Given the description of an element on the screen output the (x, y) to click on. 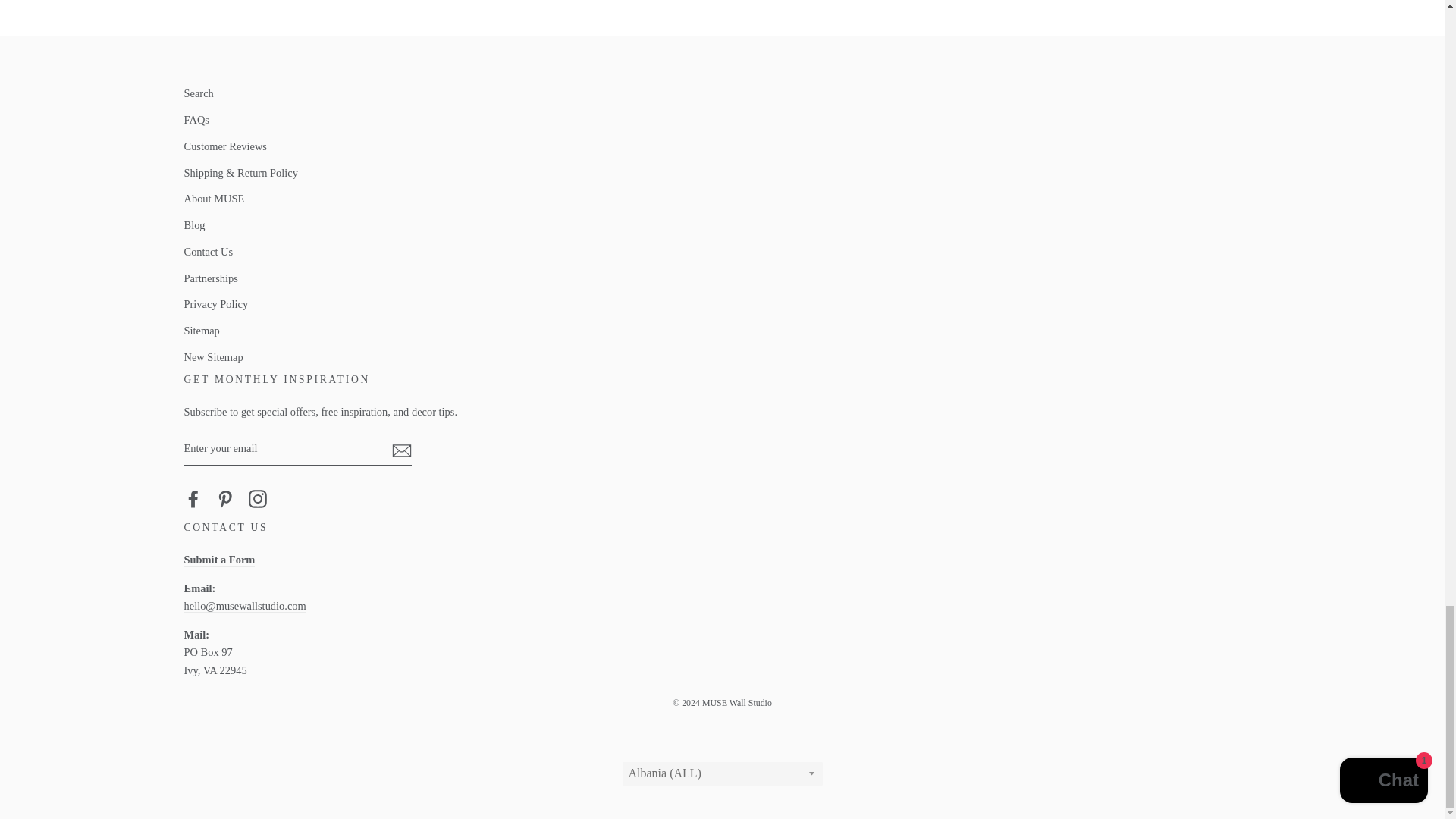
Contact Us (218, 560)
MUSE Wall Studio on Facebook (192, 497)
MUSE Wall Studio on Pinterest (224, 497)
MUSE Wall Studio on Instagram (257, 497)
